Given the description of an element on the screen output the (x, y) to click on. 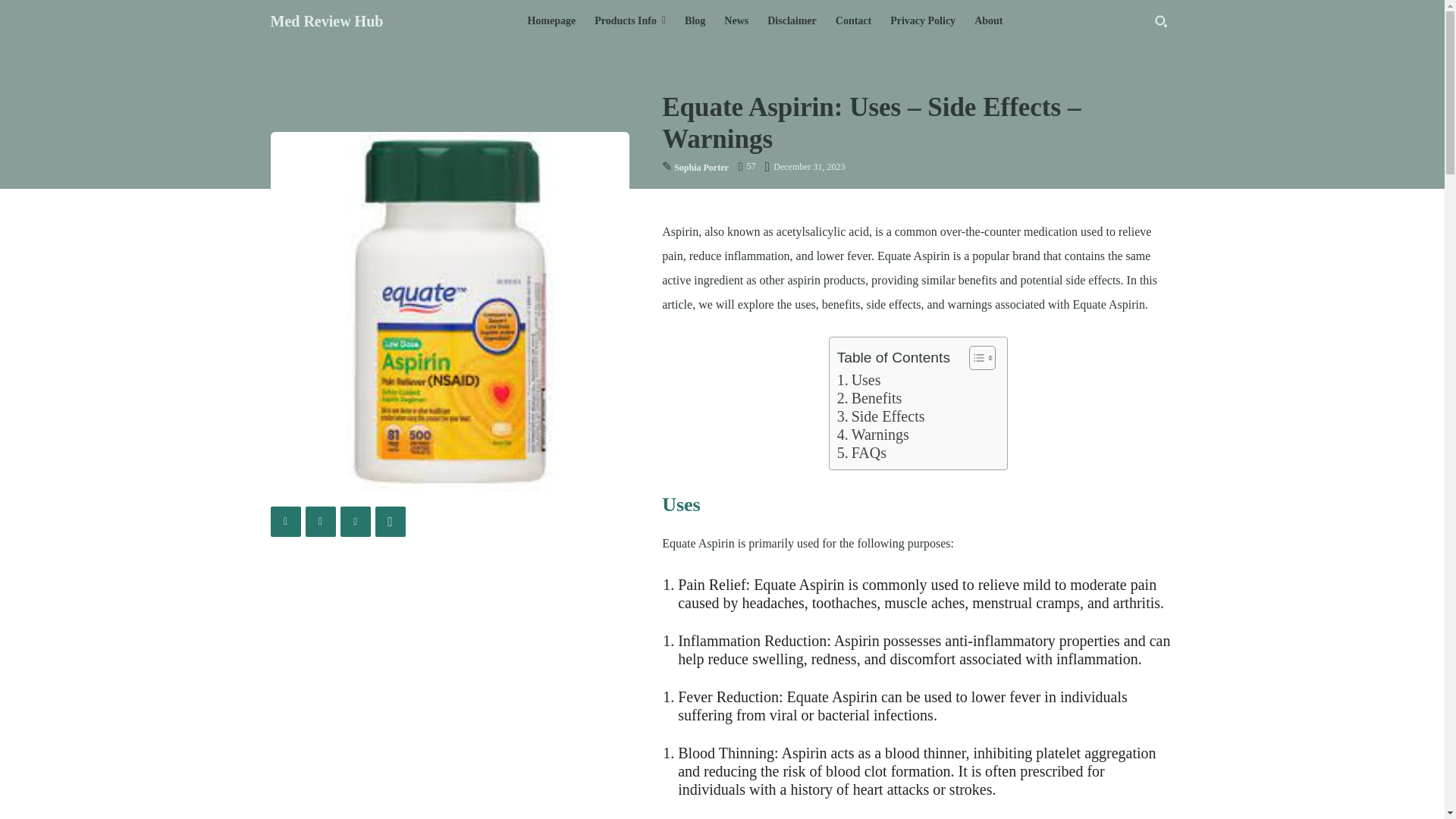
Sophia Porter (701, 167)
WhatsApp (389, 521)
Products Info (629, 21)
Equate Aspirin (448, 310)
Blog (695, 21)
About (988, 21)
Homepage (551, 21)
Facebook (284, 521)
Disclaimer (792, 21)
Contact (853, 21)
Pinterest (354, 521)
Twitter (319, 521)
Privacy Policy (922, 21)
Med Review Hub (325, 21)
Uses (858, 380)
